Given the description of an element on the screen output the (x, y) to click on. 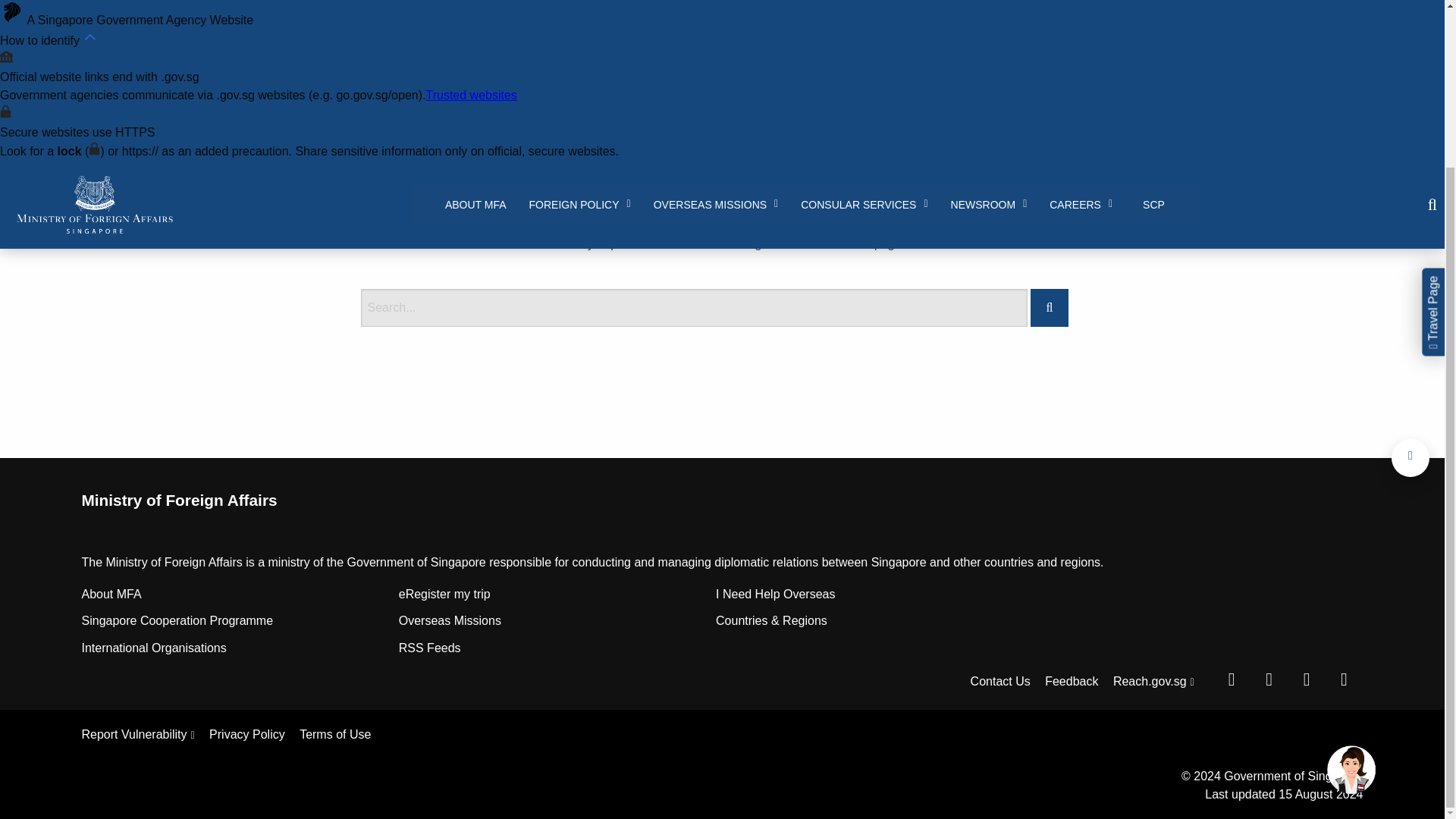
MFA Twitter (1268, 679)
CONSULAR SERVICES (864, 12)
Back to top of page (1410, 457)
FOREIGN POLICY (580, 12)
MFA Email (1342, 679)
NEWSROOM (989, 12)
Ministry of Foreign Affairs Singapore (94, 24)
CAREERS (1081, 12)
MFA Facebook (1230, 679)
MFA Instagram (1306, 679)
